Given the description of an element on the screen output the (x, y) to click on. 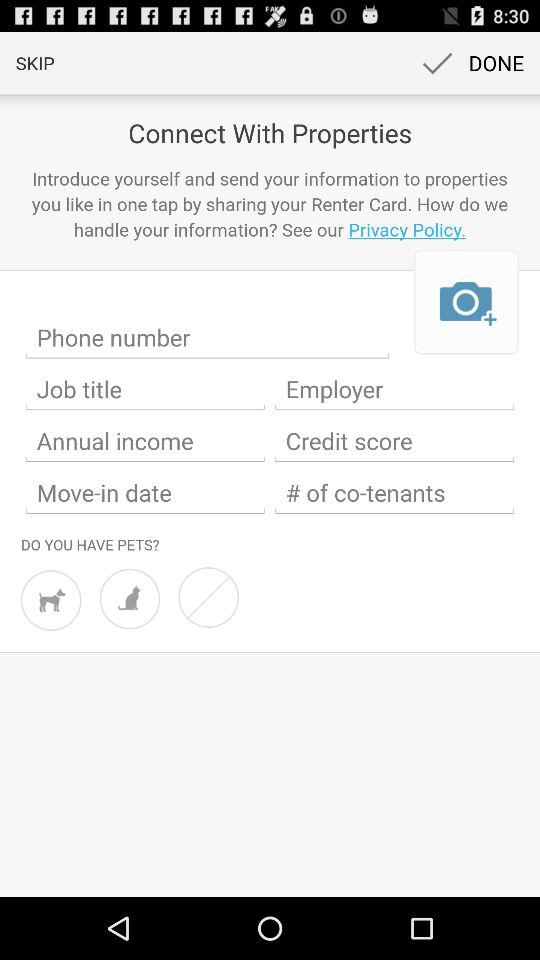
press app below connect with properties item (270, 203)
